Given the description of an element on the screen output the (x, y) to click on. 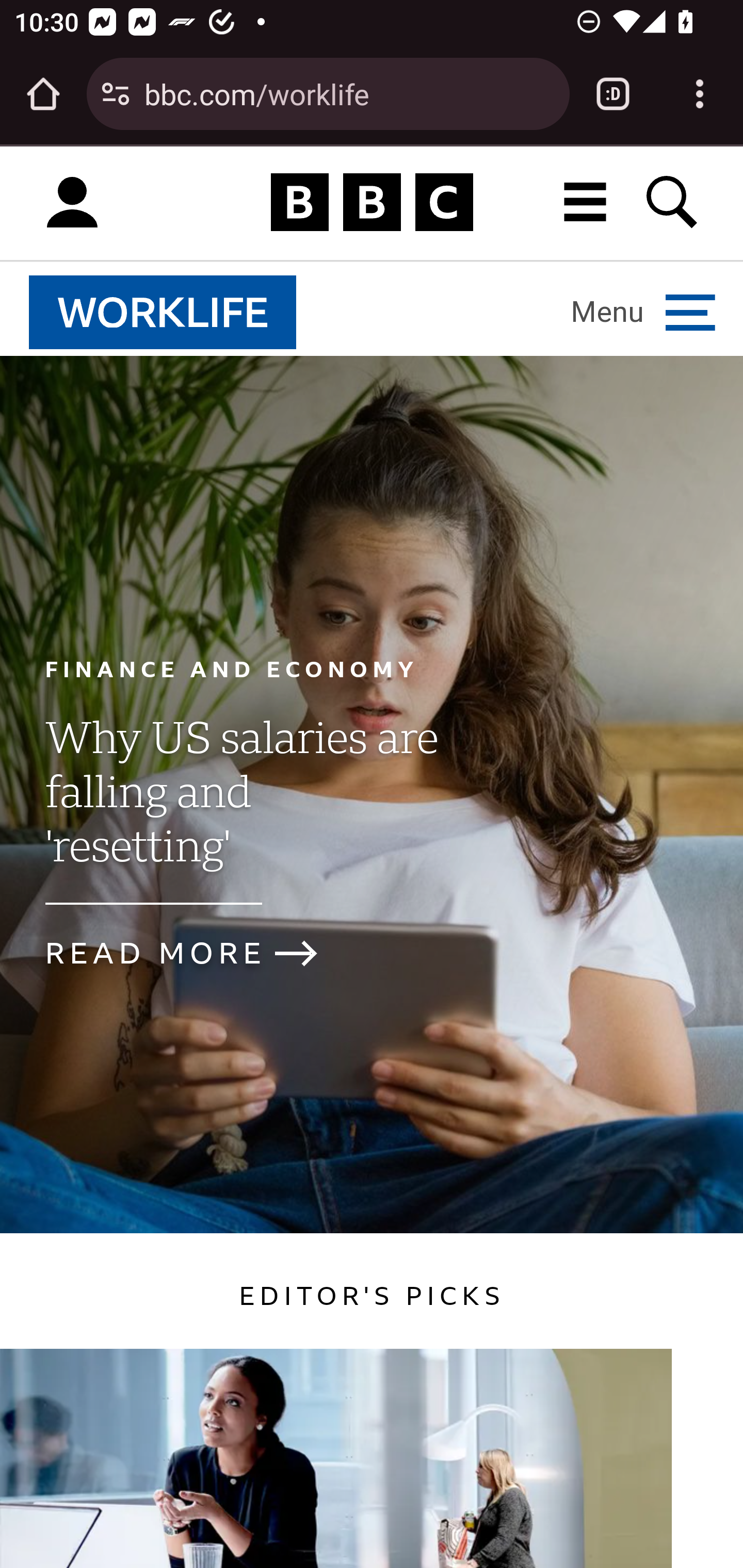
Open the home page (43, 93)
Connection is secure (115, 93)
Switch or close tabs (612, 93)
Customize and control Google Chrome (699, 93)
bbc.com/worklife (349, 92)
All BBC destinations menu (585, 202)
Search BBC (672, 202)
Sign in (71, 203)
Homepage (371, 203)
Open more navigation (643, 311)
worklife (162, 311)
FINANCE AND ECONOMY (231, 668)
Why US salaries are falling and 'resetting' (240, 808)
READ MORE (198, 953)
Woman Walks Past Leadership Ad Lunch Break (336, 1457)
